Given the description of an element on the screen output the (x, y) to click on. 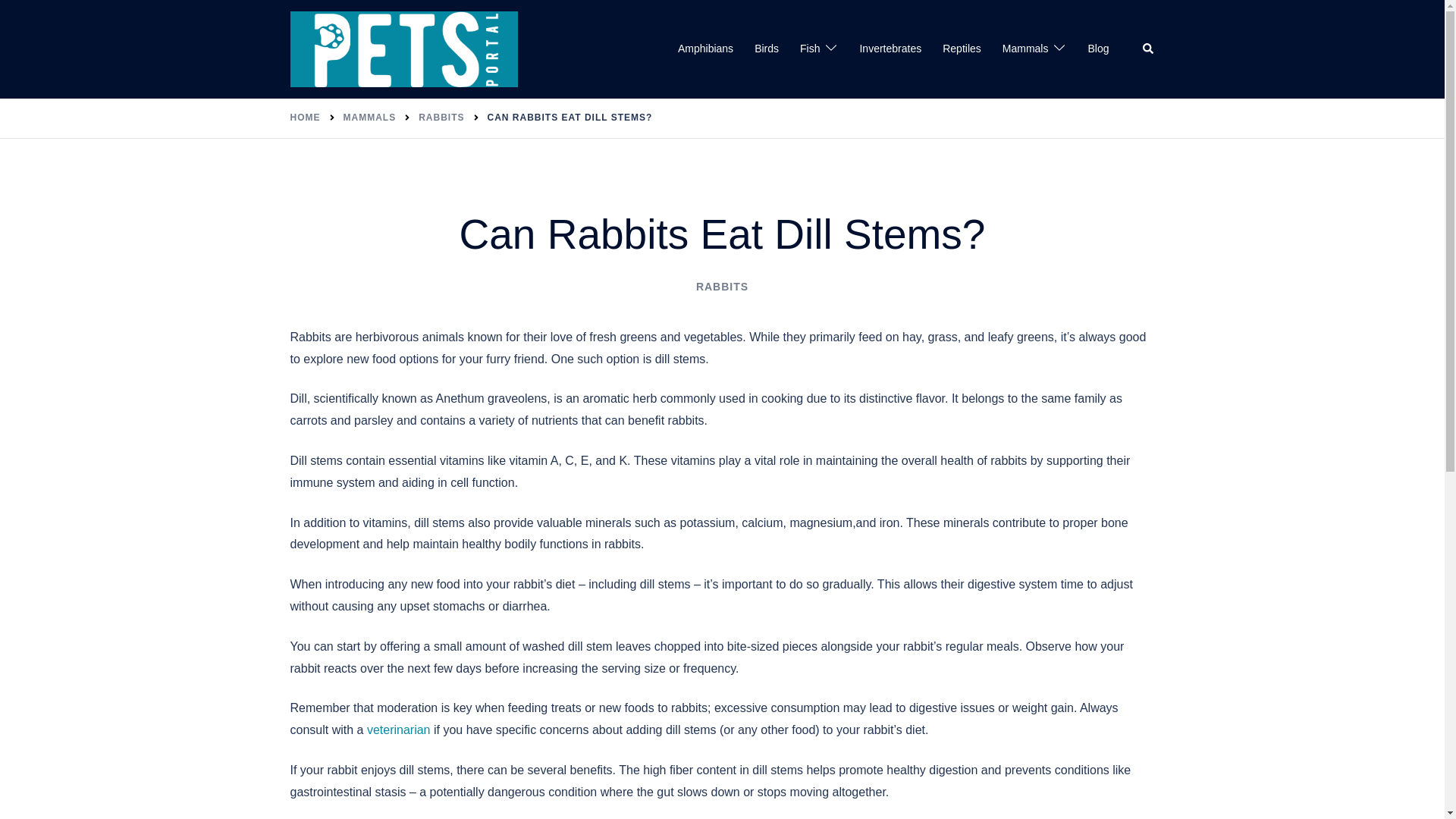
veterinarian (398, 729)
Fish (809, 48)
Birds (766, 48)
Mammals (1025, 48)
Search (1147, 49)
Amphibians (705, 48)
Blog (1097, 48)
ThePetsPortal.com (402, 47)
Invertebrates (890, 48)
Reptiles (961, 48)
